Given the description of an element on the screen output the (x, y) to click on. 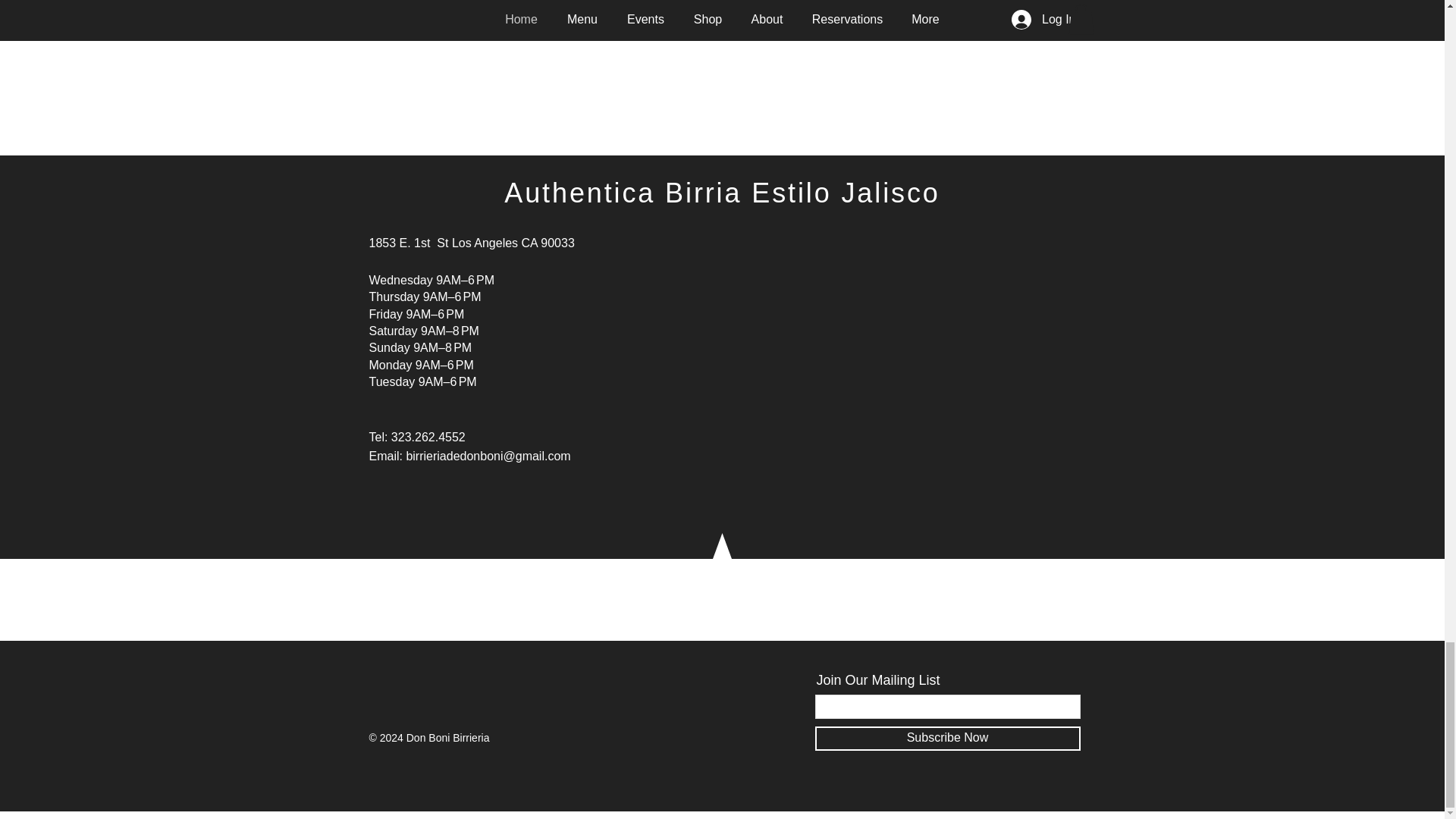
Subscribe Now (946, 738)
Contact Us (725, 9)
